Given the description of an element on the screen output the (x, y) to click on. 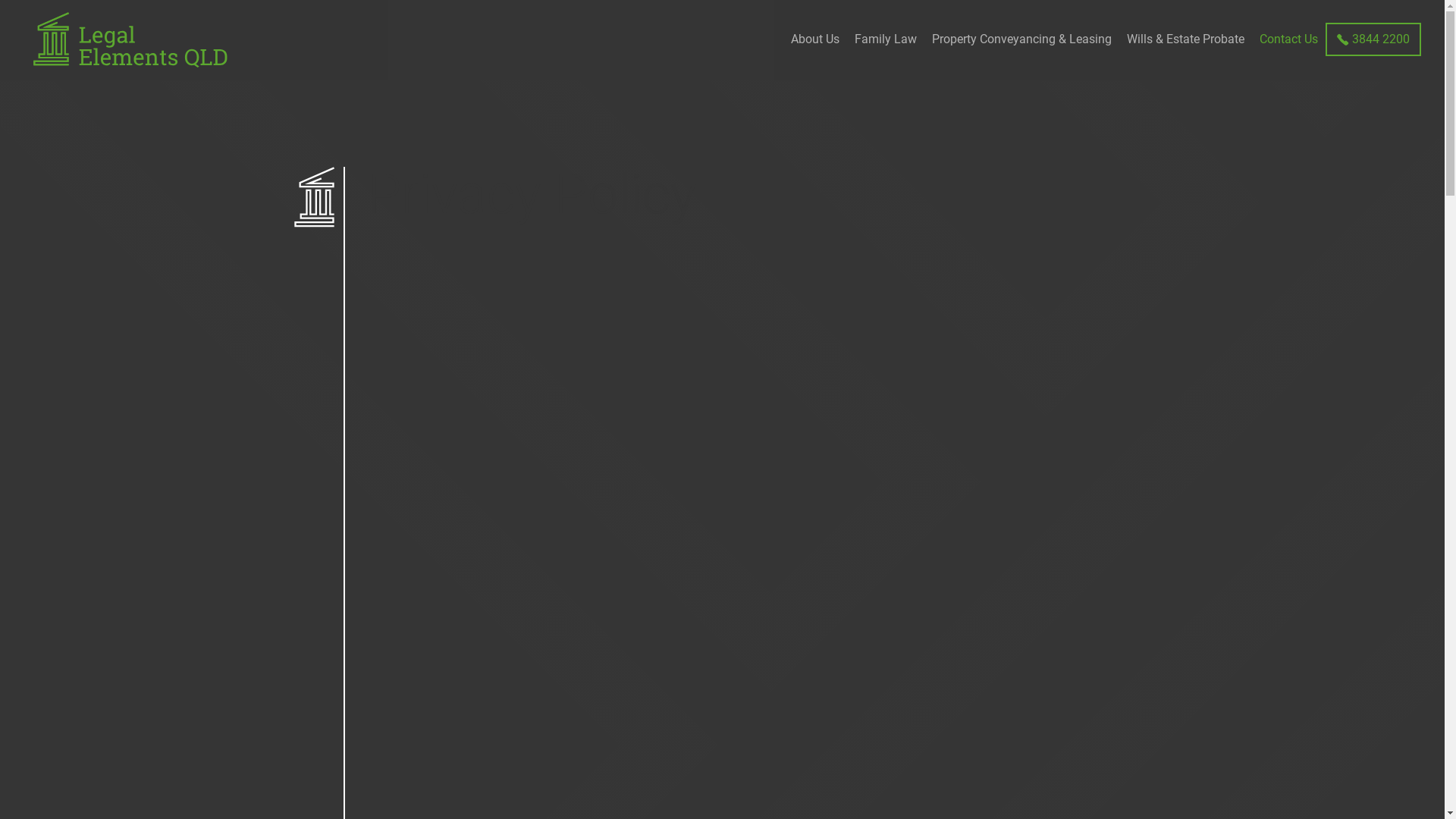
3844 2200 Element type: text (1380, 39)
Contact Us Element type: text (1288, 39)
Wills & Estate Probate Element type: text (1185, 39)
Property Conveyancing & Leasing Element type: text (1021, 39)
Family Law Element type: text (885, 39)
About Us Element type: text (815, 39)
